Given the description of an element on the screen output the (x, y) to click on. 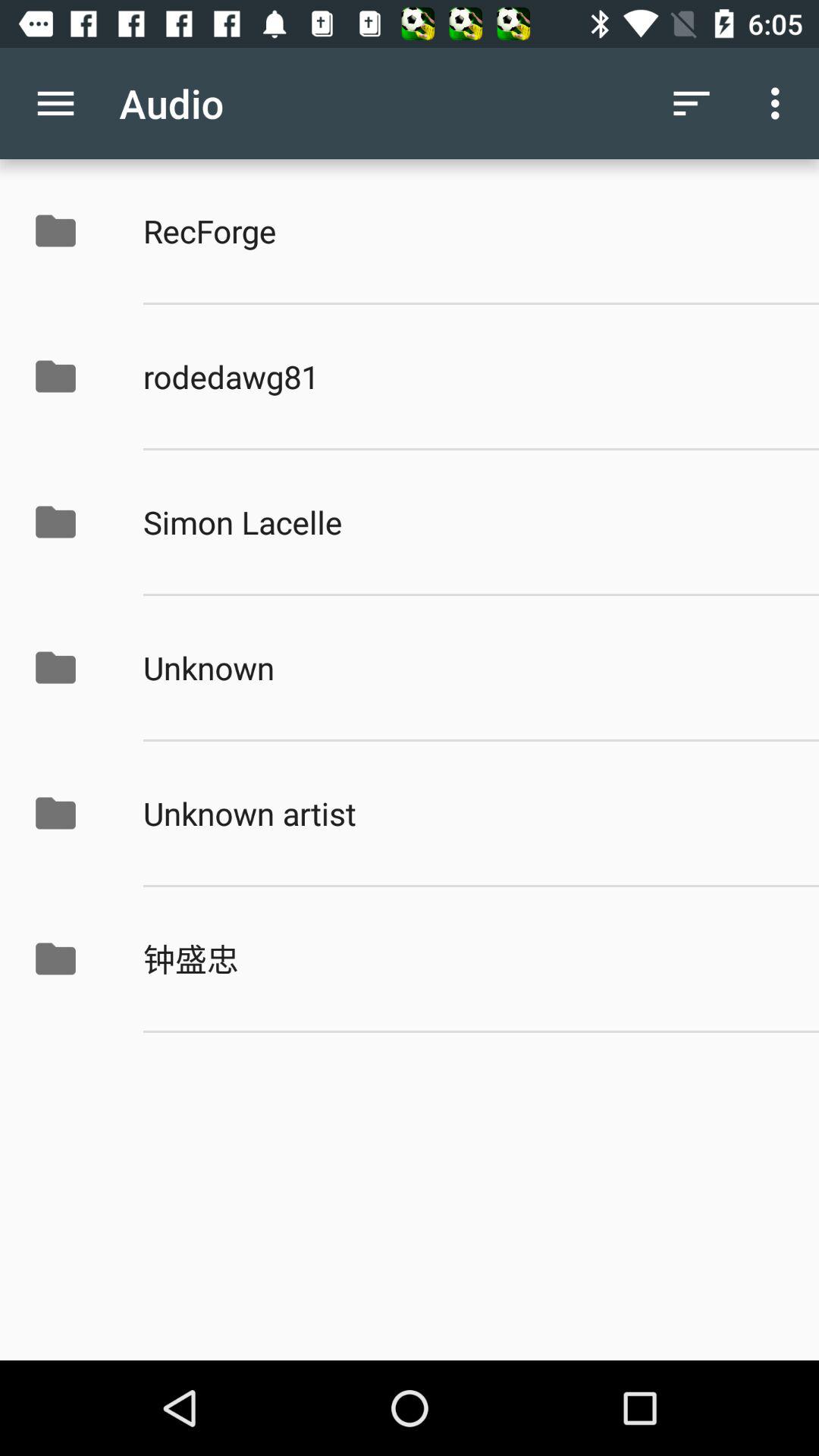
click the rodedawg81 (465, 376)
